Given the description of an element on the screen output the (x, y) to click on. 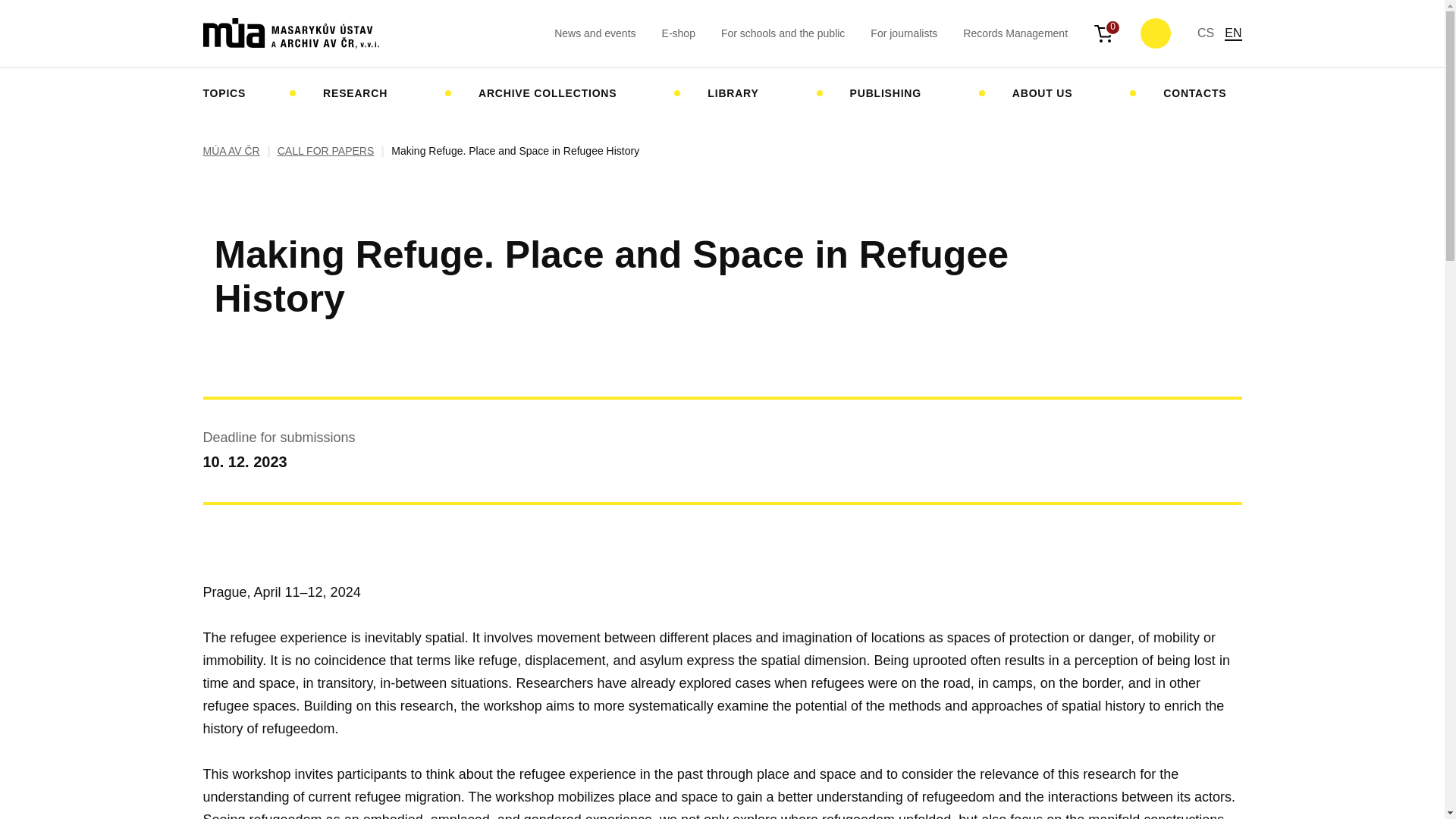
Records Management (1014, 33)
ARCHIVE COLLECTIONS (554, 92)
PUBLISHING (892, 92)
News and events (594, 33)
CS (1205, 32)
ABOUT US (1049, 92)
E-shop (678, 33)
TOPICS (232, 92)
EN (1232, 33)
For journalists (903, 33)
For schools and the public (782, 33)
LIBRARY (740, 92)
RESEARCH (361, 92)
0 (1103, 32)
